Given the description of an element on the screen output the (x, y) to click on. 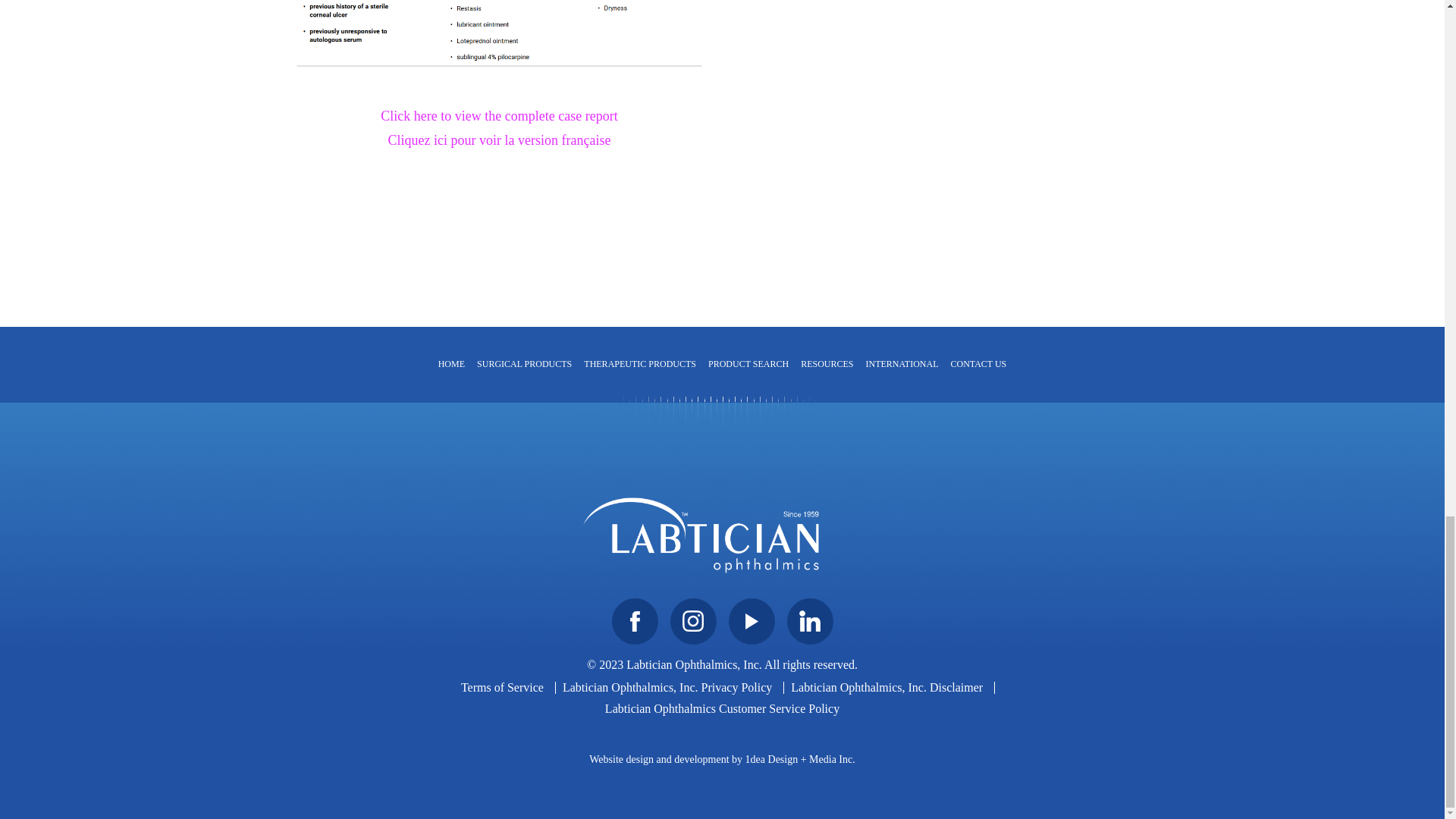
Click here to view the complete case report (498, 115)
CONTACT US (978, 364)
INTERNATIONAL (901, 364)
HOME (451, 364)
THERAPEUTIC PRODUCTS (640, 364)
RESOURCES (826, 364)
SURGICAL PRODUCTS (524, 364)
PRODUCT SEARCH (748, 364)
